Given the description of an element on the screen output the (x, y) to click on. 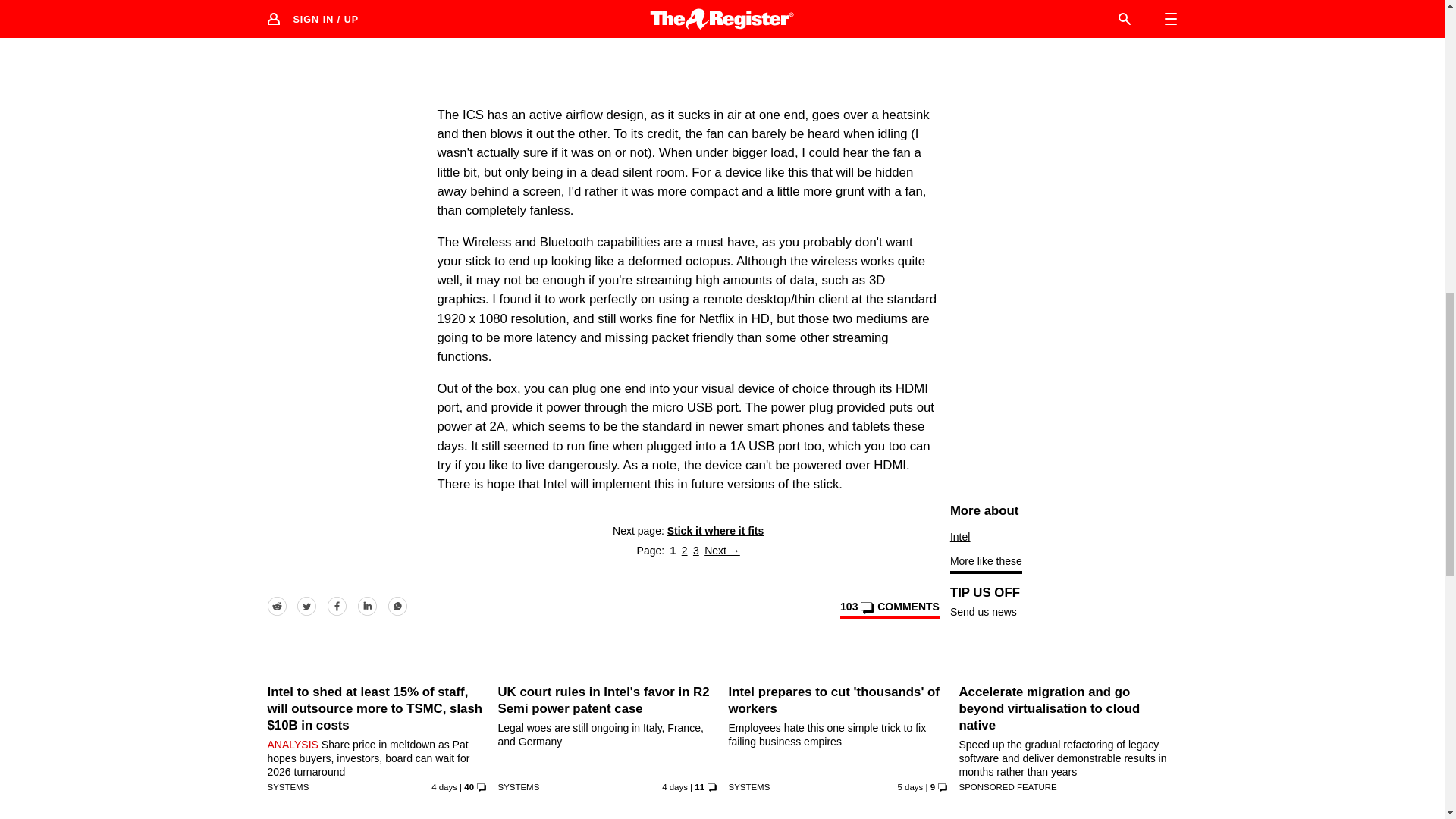
31 Jul 2024 19:42 (910, 786)
1 Aug 2024 7:30 (674, 786)
View comments on this article (889, 609)
1 Aug 2024 20:56 (443, 786)
